Given the description of an element on the screen output the (x, y) to click on. 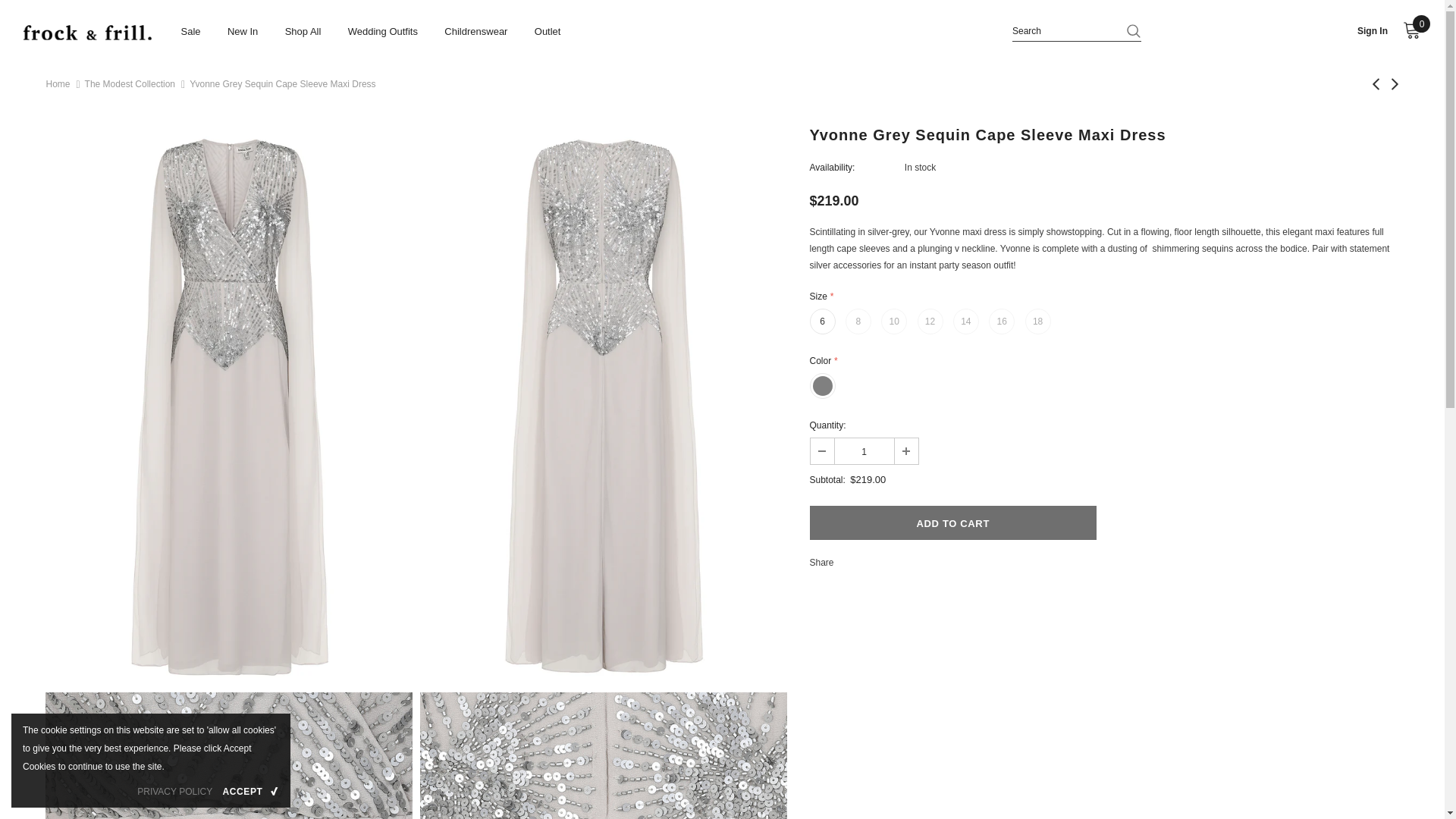
Add to Cart (953, 522)
1 (863, 451)
